Given the description of an element on the screen output the (x, y) to click on. 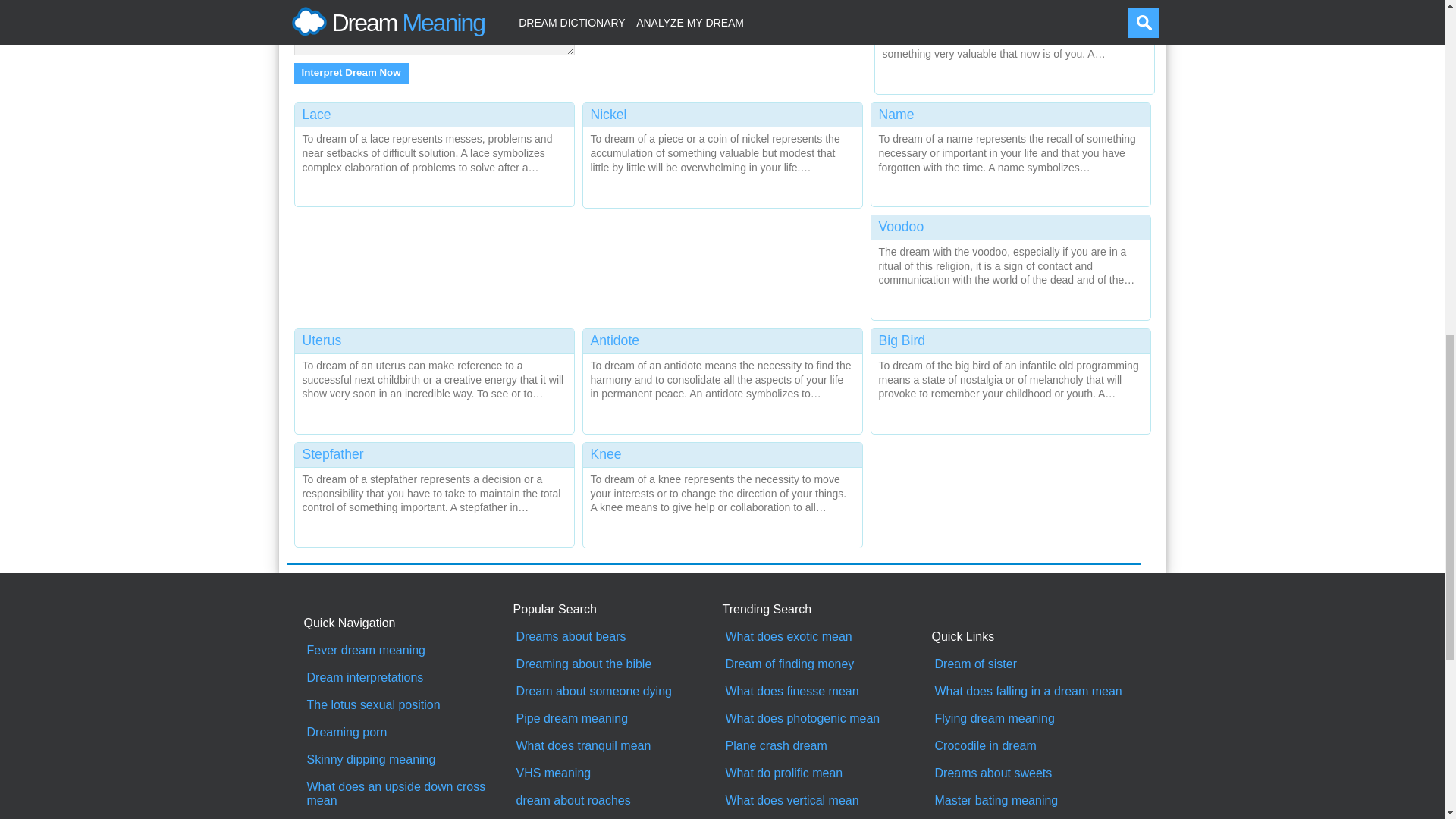
Dreams about bears (617, 636)
Nickel Dream Meaning (721, 151)
Tribe Dream Meaning (1014, 43)
What does an upside down cross mean (407, 793)
Big Bird Dream Meaning (1010, 377)
Dream interpretations (407, 677)
Uterus Dream Meaning (433, 377)
Lace Dream Meaning (433, 151)
Dream about someone dying (617, 691)
Antidote Dream Meaning (721, 377)
What does tranquil mean (617, 745)
Dreaming about the bible (617, 663)
Stepfather Dream Meaning (433, 491)
dream about roaches (617, 800)
Skinny dipping meaning (407, 759)
